Given the description of an element on the screen output the (x, y) to click on. 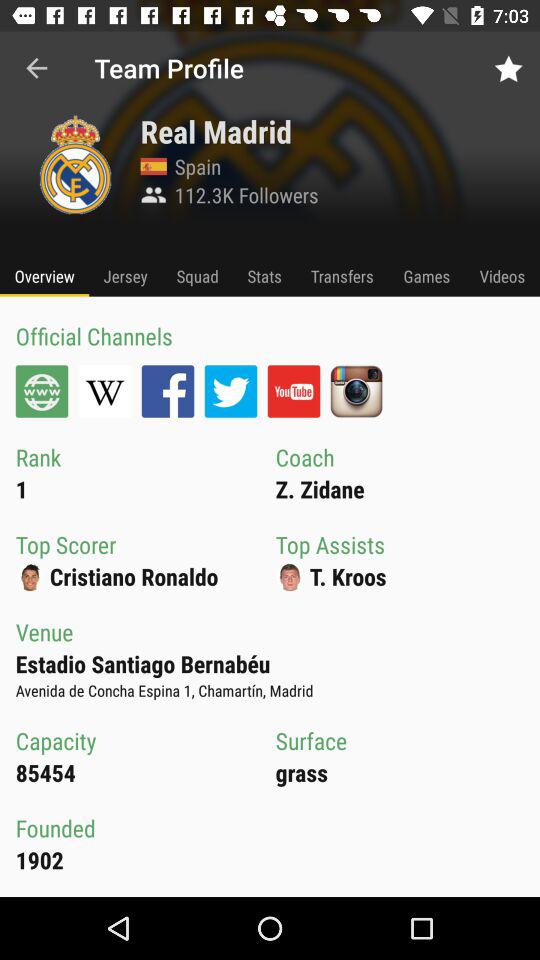
open twitter (230, 391)
